Given the description of an element on the screen output the (x, y) to click on. 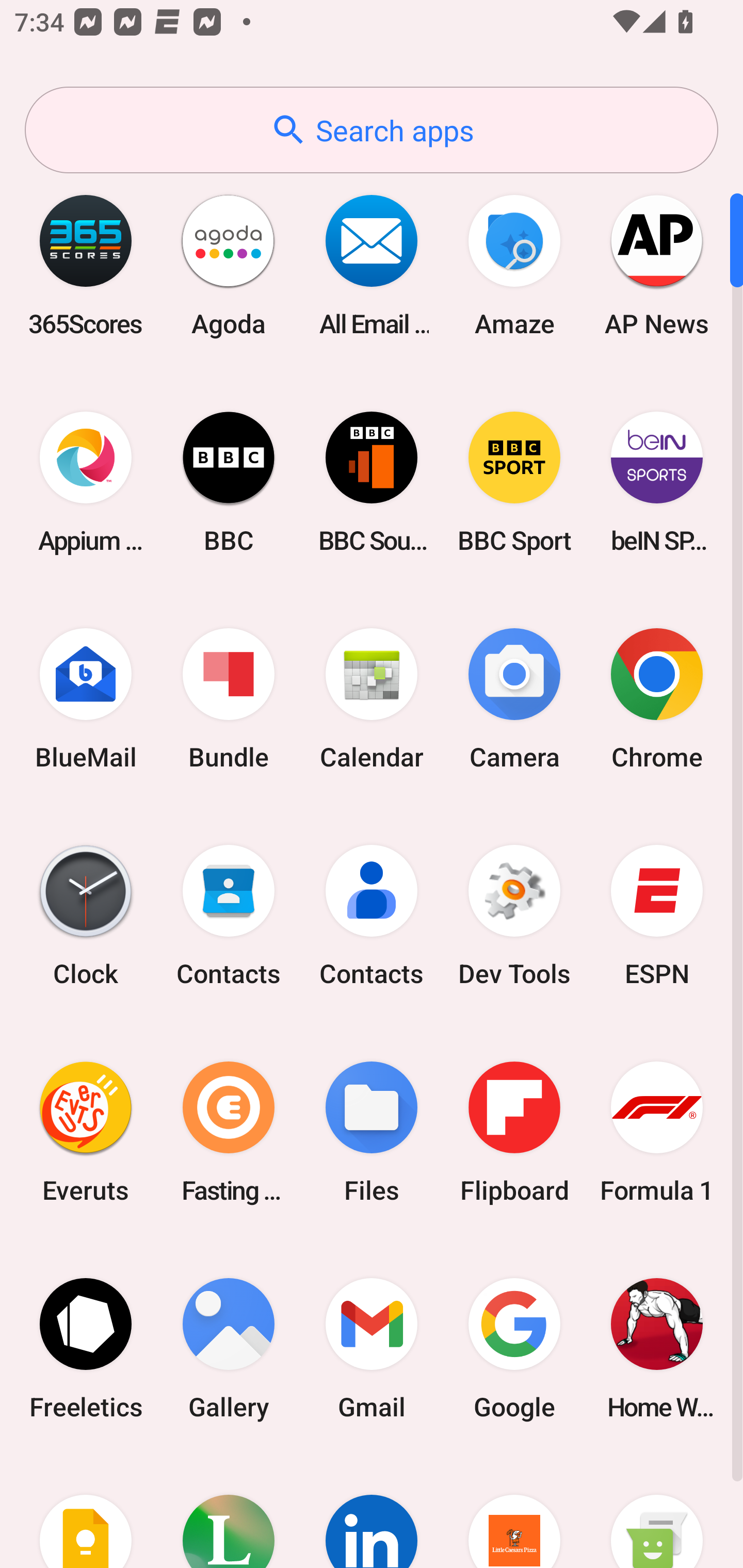
  Search apps (371, 130)
365Scores (85, 264)
Agoda (228, 264)
All Email Connect (371, 264)
Amaze (514, 264)
AP News (656, 264)
Appium Settings (85, 482)
BBC (228, 482)
BBC Sounds (371, 482)
BBC Sport (514, 482)
beIN SPORTS (656, 482)
BlueMail (85, 699)
Bundle (228, 699)
Calendar (371, 699)
Camera (514, 699)
Chrome (656, 699)
Clock (85, 915)
Contacts (228, 915)
Contacts (371, 915)
Dev Tools (514, 915)
ESPN (656, 915)
Everuts (85, 1131)
Fasting Coach (228, 1131)
Files (371, 1131)
Flipboard (514, 1131)
Formula 1 (656, 1131)
Freeletics (85, 1348)
Gallery (228, 1348)
Gmail (371, 1348)
Google (514, 1348)
Home Workout (656, 1348)
Keep Notes (85, 1512)
Lifesum (228, 1512)
LinkedIn (371, 1512)
Little Caesars Pizza (514, 1512)
Messaging (656, 1512)
